Given the description of an element on the screen output the (x, y) to click on. 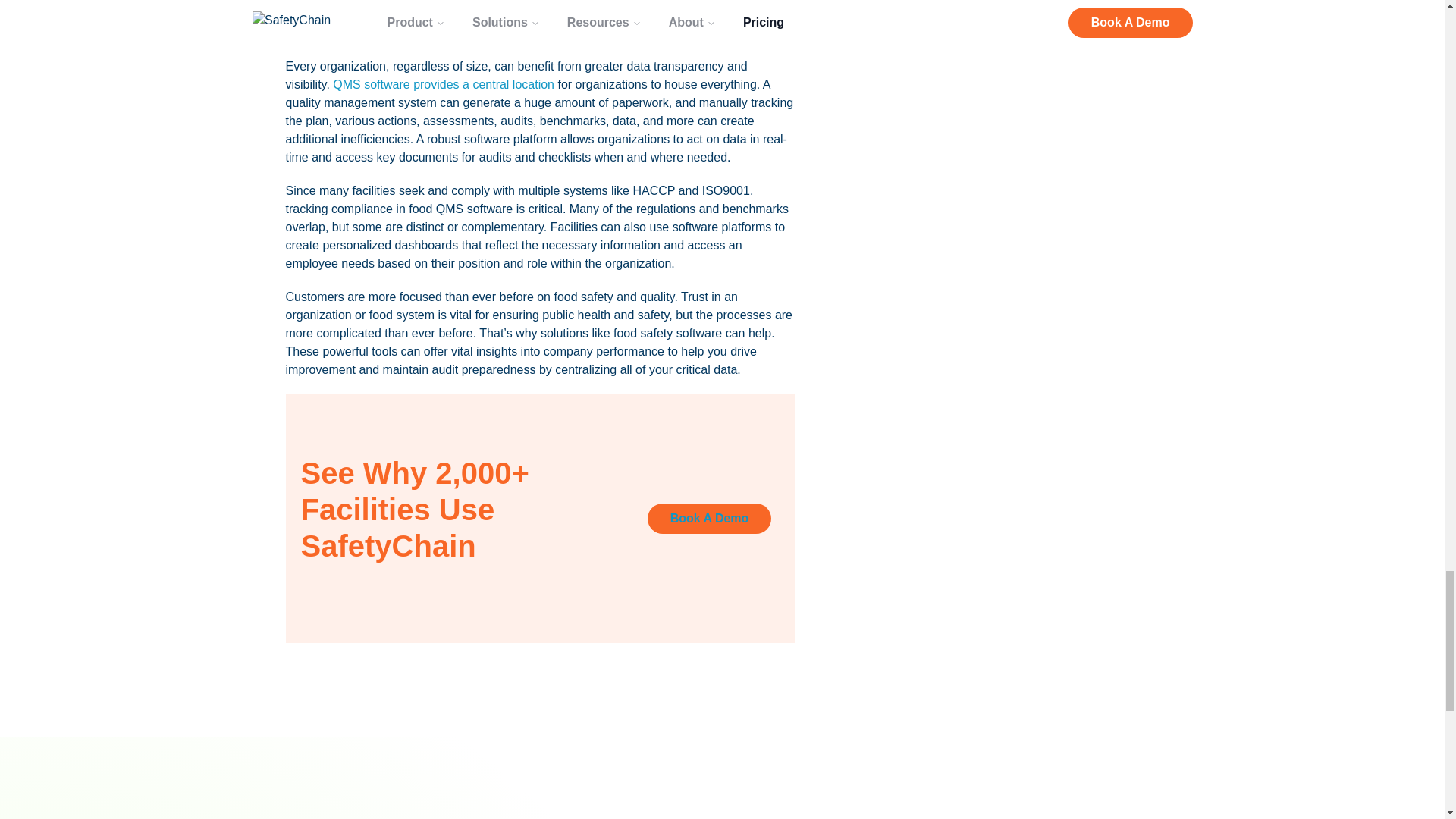
Book A Demo (709, 518)
QMS software provides a central location (443, 83)
